Given the description of an element on the screen output the (x, y) to click on. 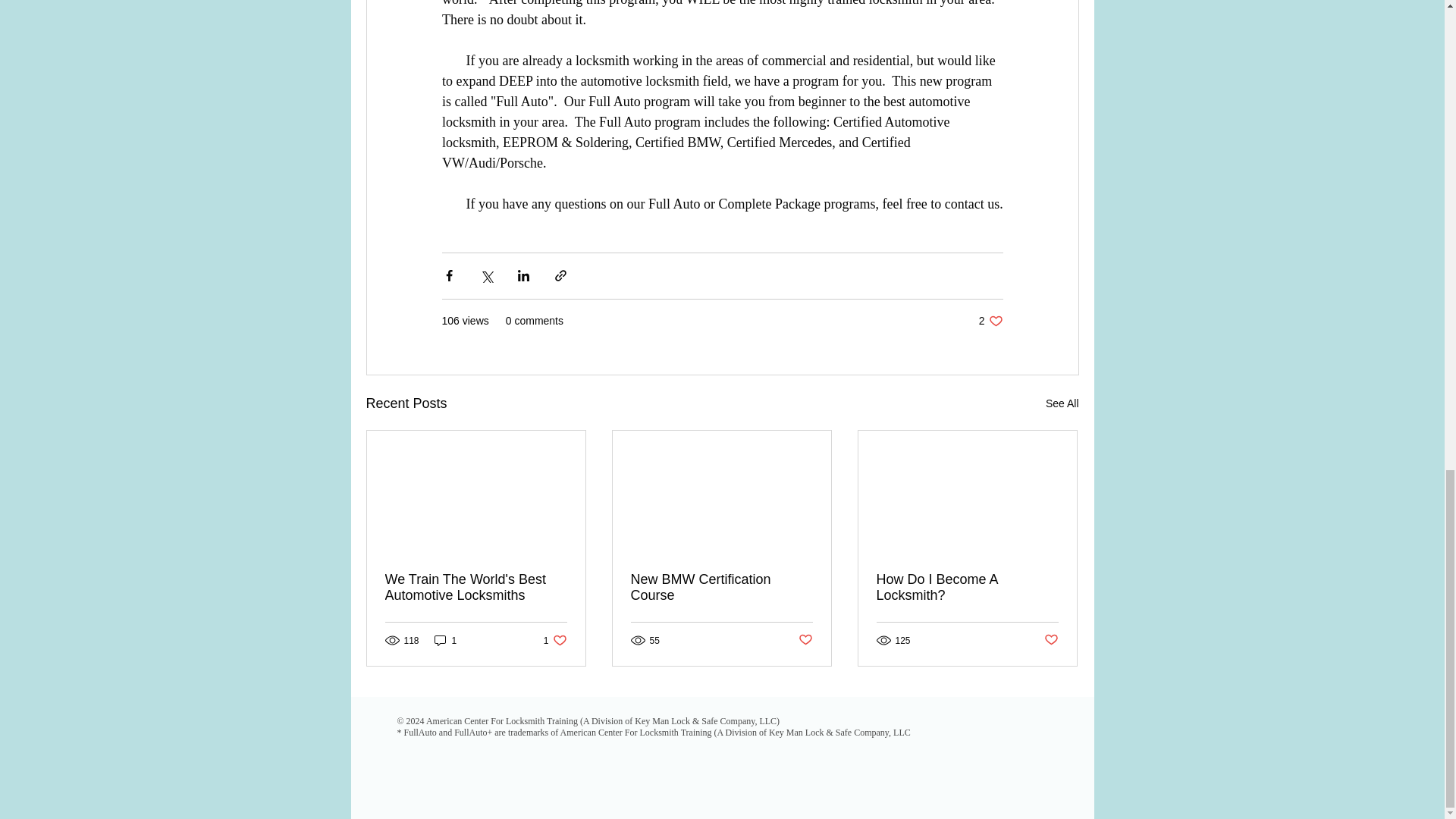
We Train The World's Best Automotive Locksmiths (990, 320)
How Do I Become A Locksmith? (476, 587)
New BMW Certification Course (555, 640)
See All (967, 587)
Post not marked as liked (721, 587)
1 (1061, 403)
Post not marked as liked (804, 640)
